Given the description of an element on the screen output the (x, y) to click on. 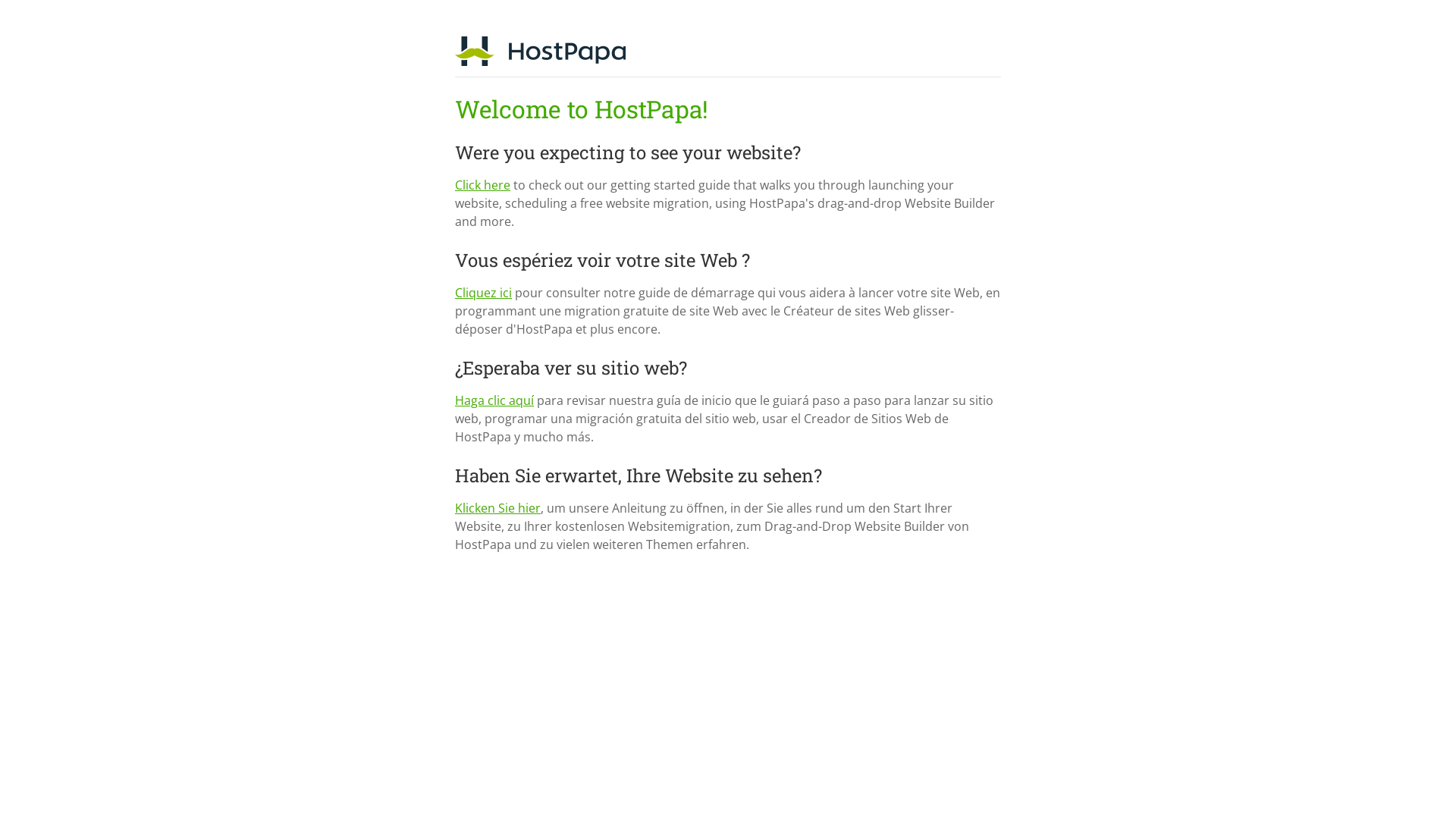
Click here Element type: text (482, 184)
Cliquez ici Element type: text (483, 292)
Klicken Sie hier Element type: text (497, 507)
